Given the description of an element on the screen output the (x, y) to click on. 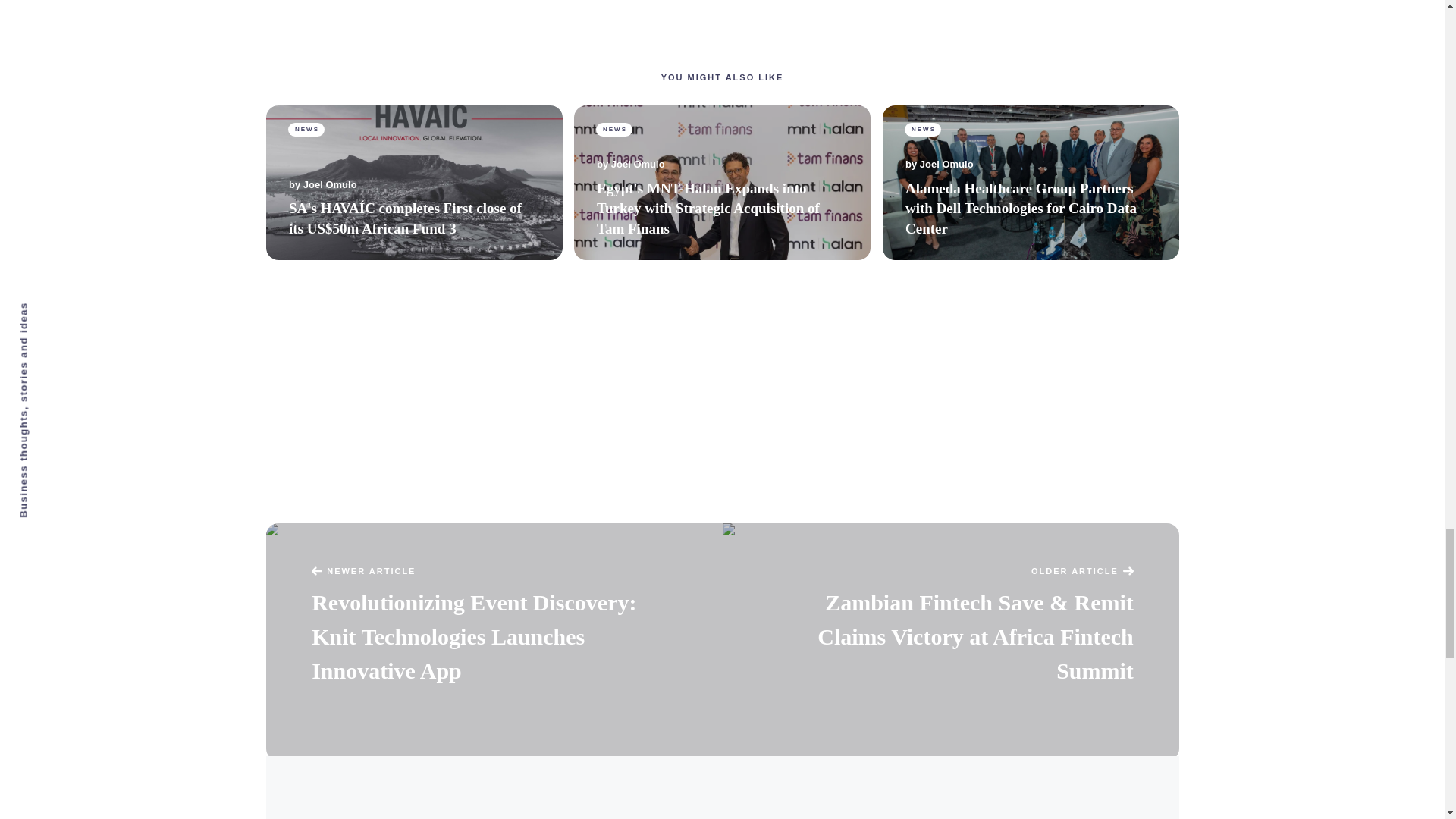
Joel Omulo (329, 184)
Advertisement (721, 31)
Joel Omulo (638, 164)
Joel Omulo (947, 164)
